Given the description of an element on the screen output the (x, y) to click on. 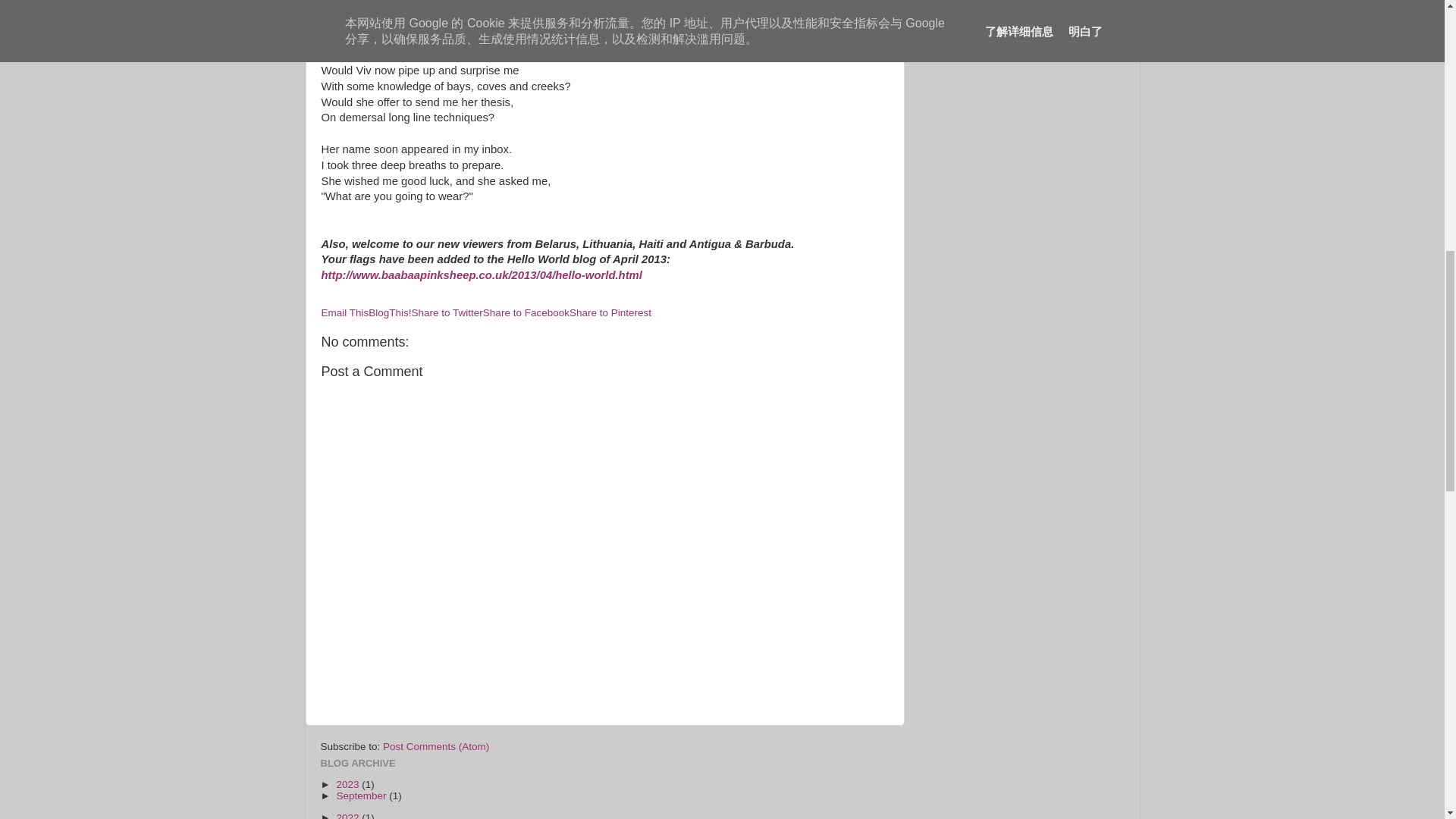
Share to Facebook (526, 311)
Email This (345, 311)
Share to Twitter (447, 311)
Share to Pinterest (609, 311)
BlogThis! (389, 311)
Share to Facebook (526, 311)
September (362, 795)
Share to Twitter (447, 311)
2023 (348, 784)
Email This (345, 311)
BlogThis! (389, 311)
2022 (348, 815)
Share to Pinterest (609, 311)
